Given the description of an element on the screen output the (x, y) to click on. 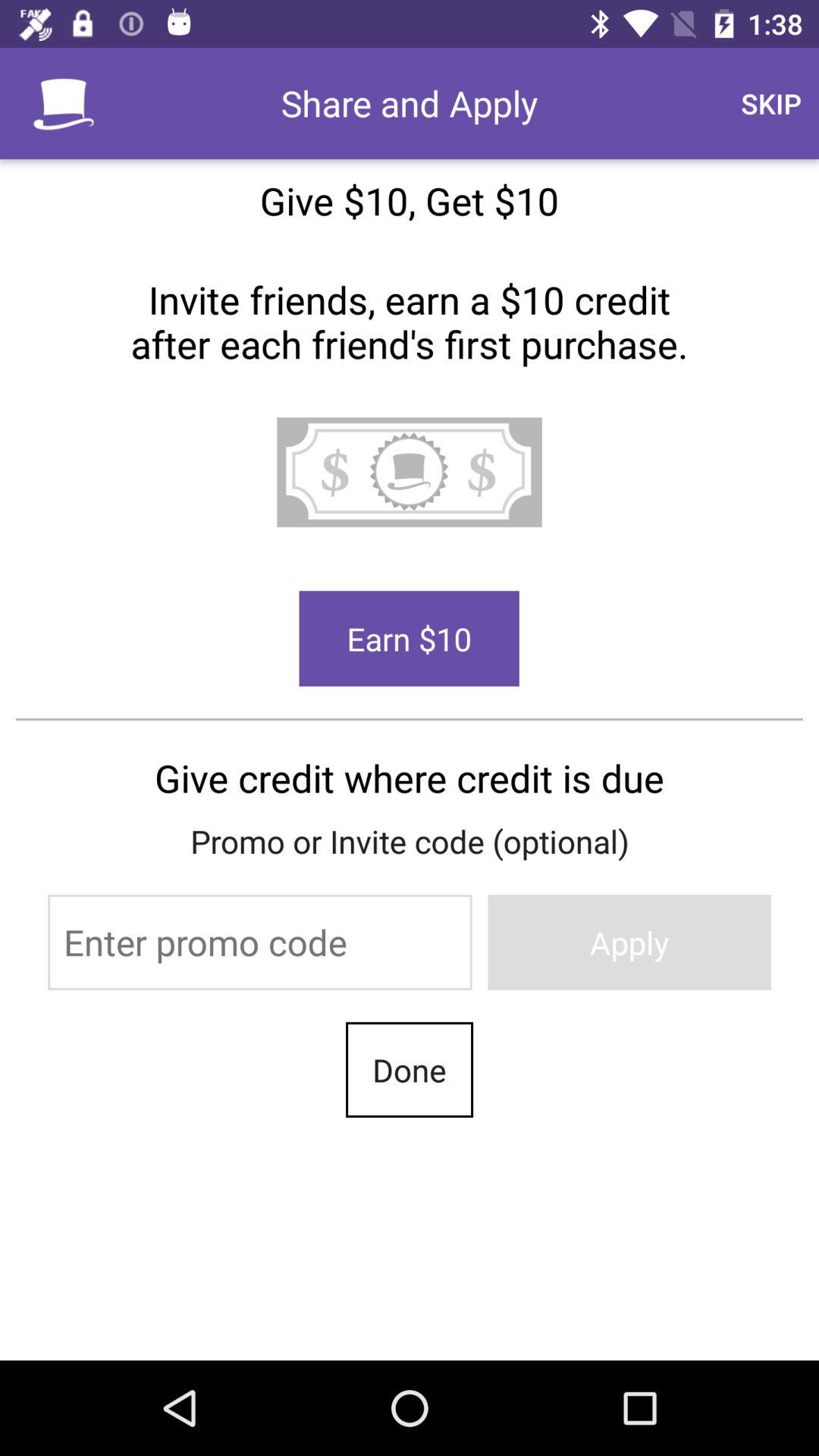
enter promo code (259, 942)
